Given the description of an element on the screen output the (x, y) to click on. 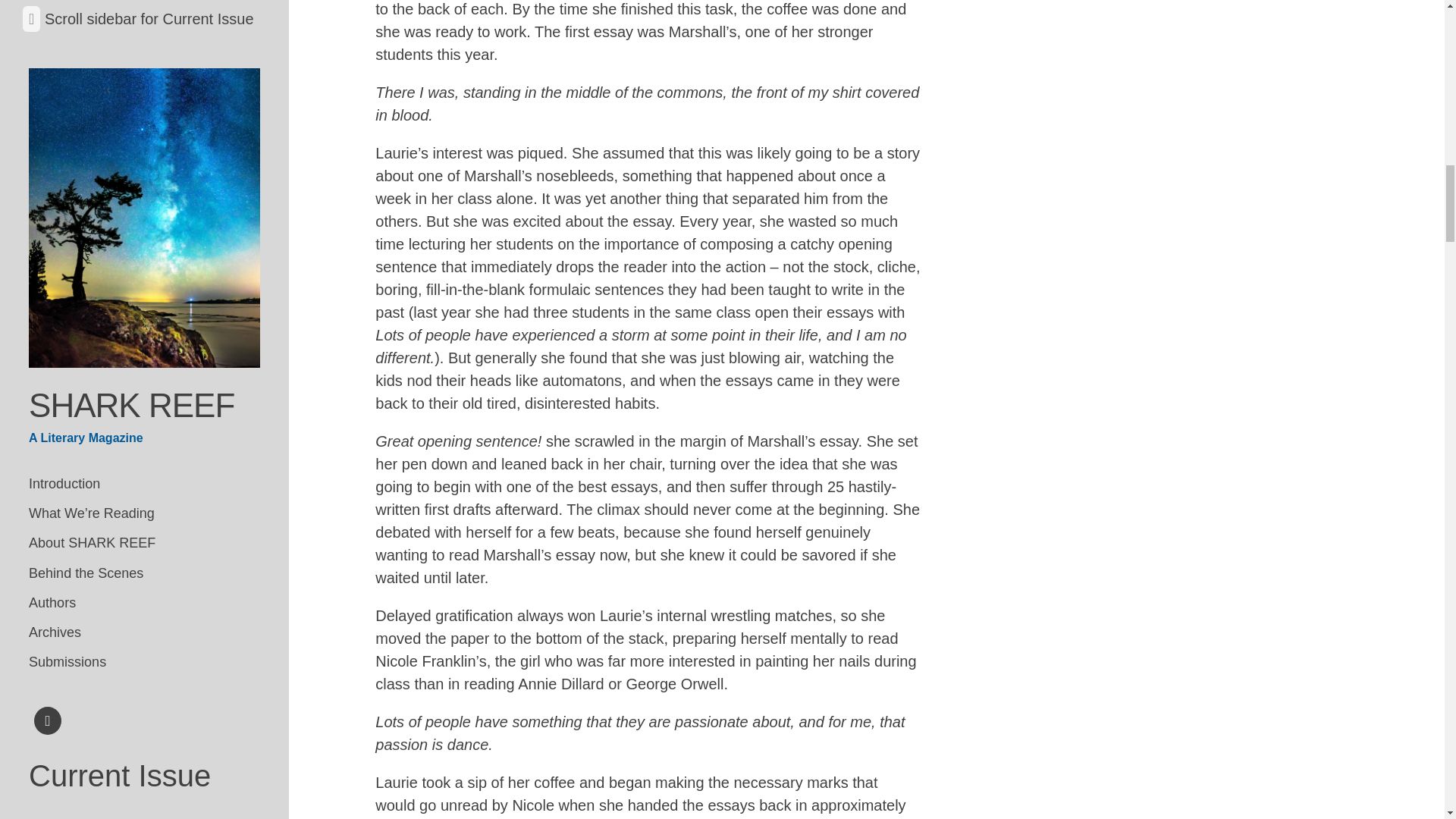
Sign up (67, 508)
